Given the description of an element on the screen output the (x, y) to click on. 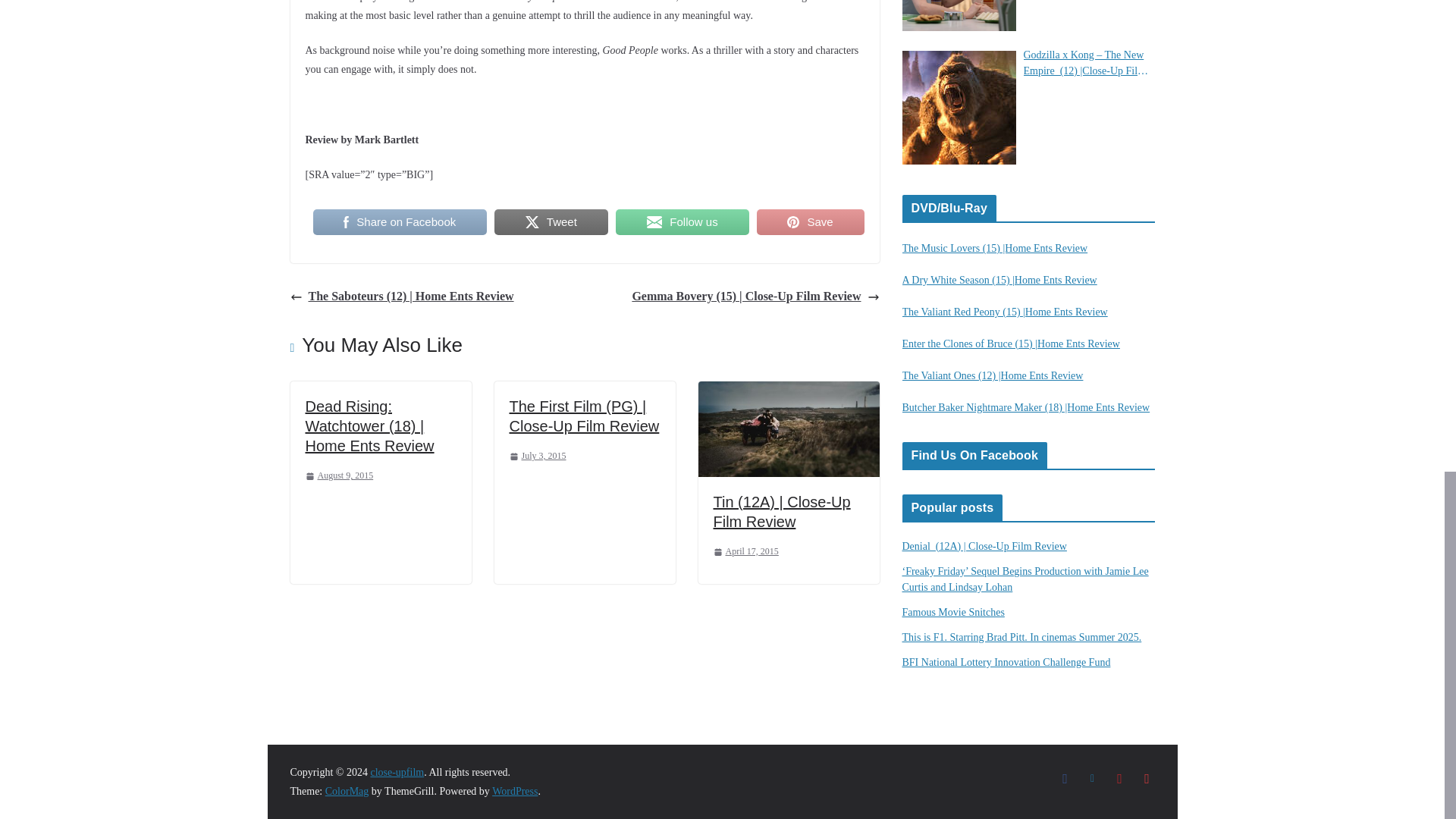
Follow us (682, 222)
August 9, 2015 (338, 475)
Tweet (551, 222)
Save (810, 222)
Share on Facebook (399, 222)
12:06 pm (338, 475)
